Given the description of an element on the screen output the (x, y) to click on. 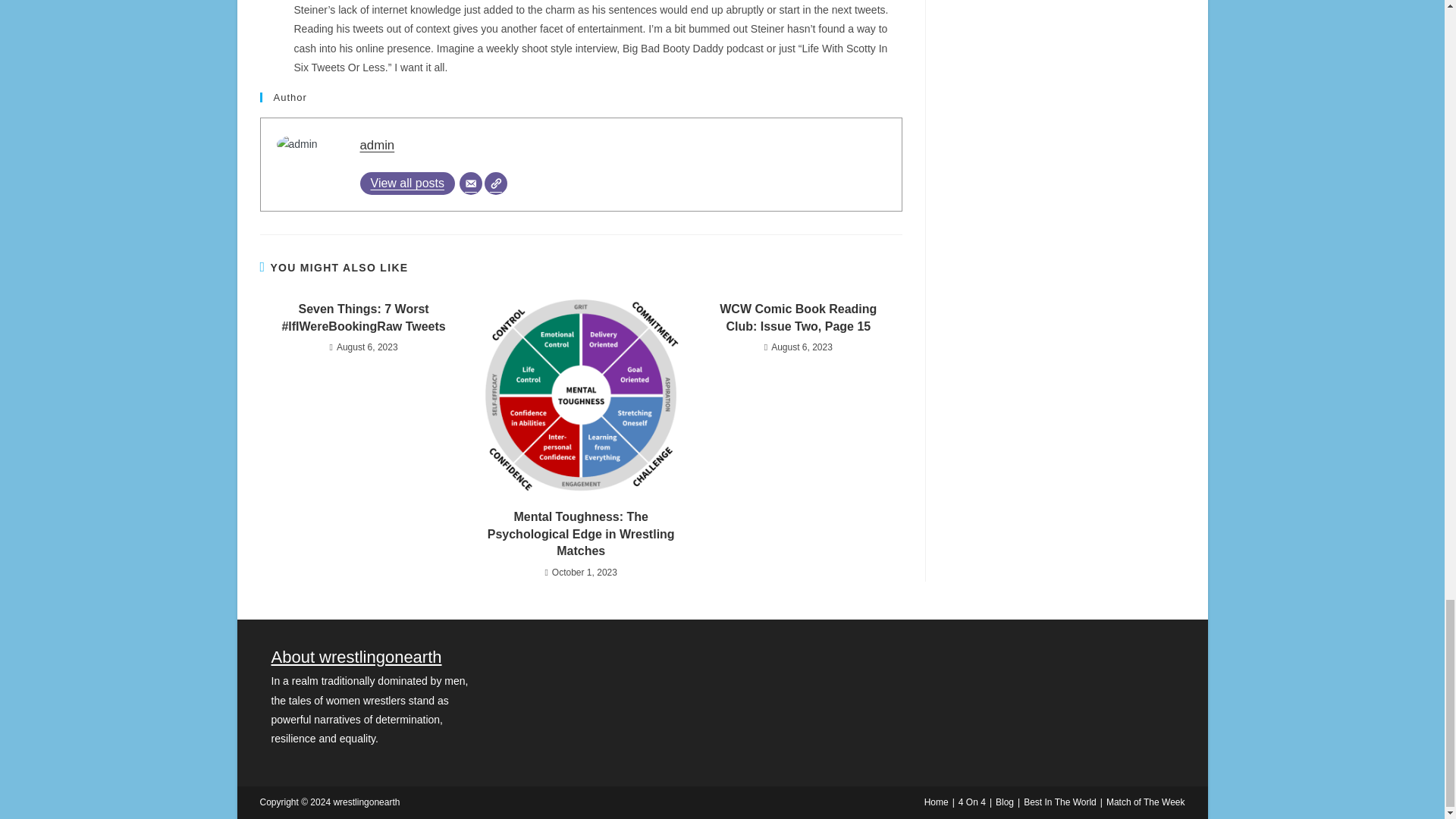
admin (376, 145)
View all posts (406, 182)
View all posts (406, 182)
admin (376, 145)
WCW Comic Book Reading Club: Issue Two, Page 15 (798, 317)
